Given the description of an element on the screen output the (x, y) to click on. 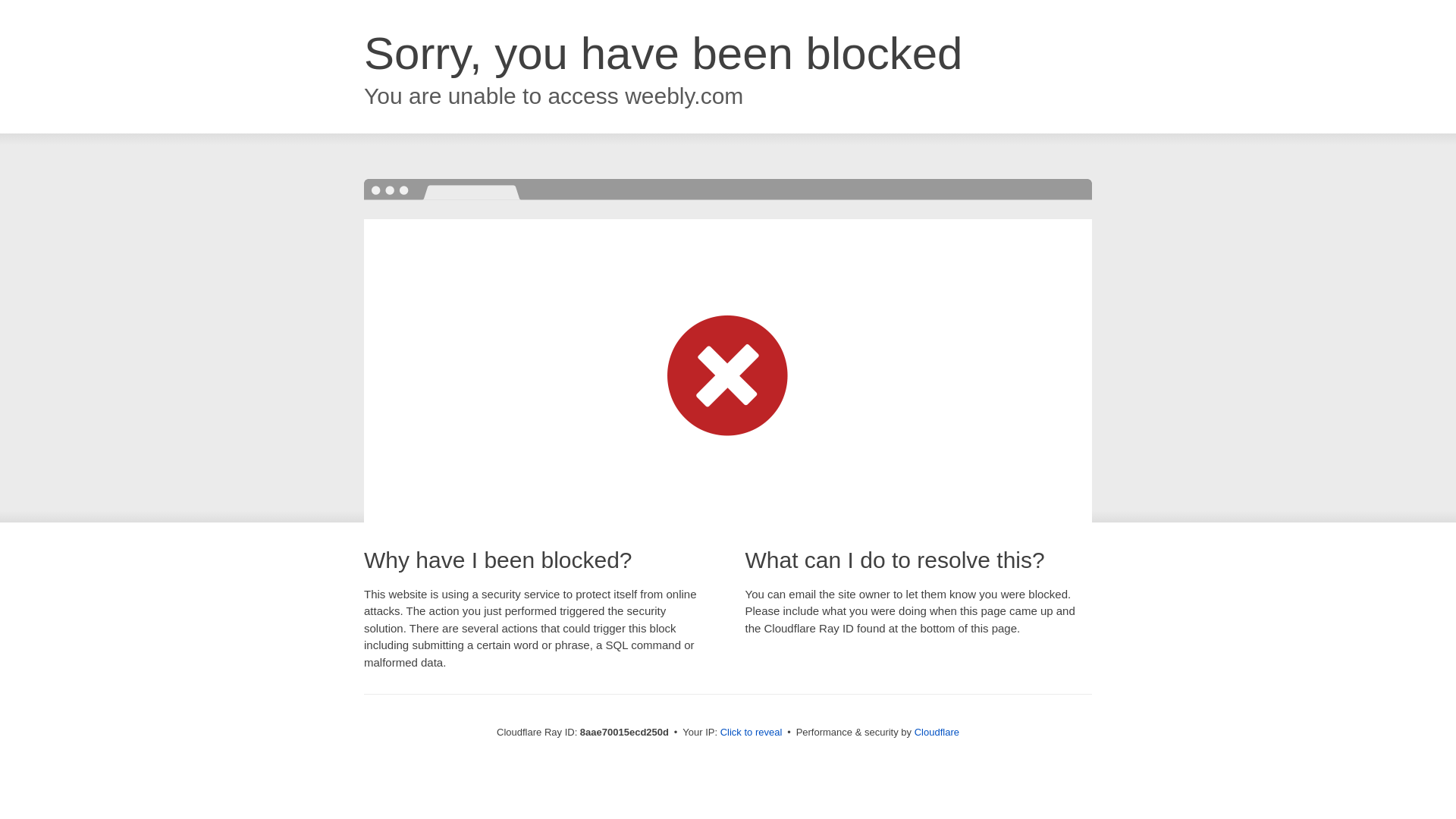
Click to reveal (751, 732)
Cloudflare (936, 731)
